Given the description of an element on the screen output the (x, y) to click on. 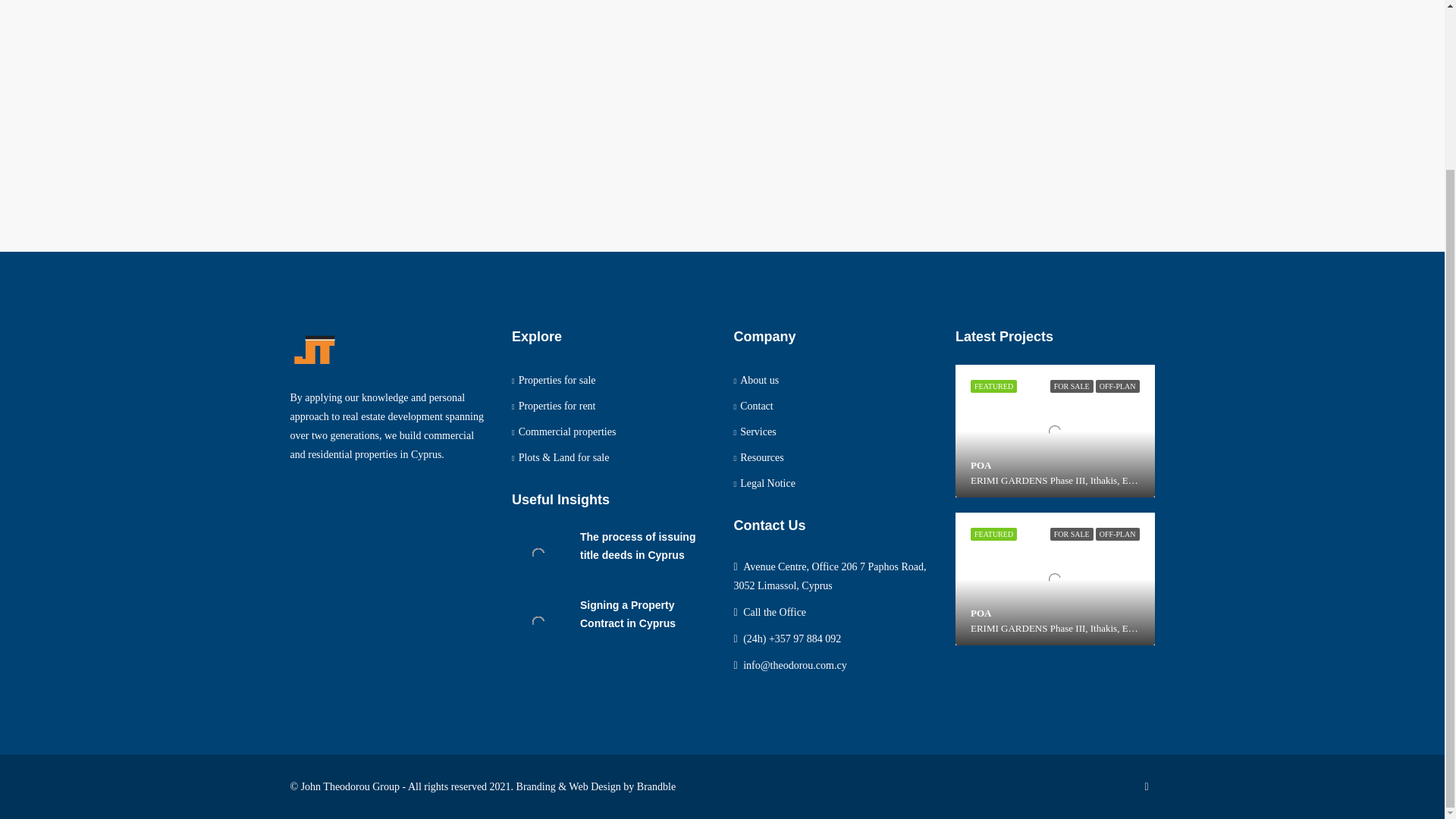
Services (754, 431)
The process of issuing title deeds in Cyprus (637, 545)
Call the Office (774, 612)
Resources (758, 457)
Commercial properties (563, 431)
Legal Notice (763, 482)
Contact (753, 405)
About us (755, 379)
Properties for rent (553, 405)
Properties for sale (553, 379)
OFF-PLAN (1118, 386)
FOR SALE (1071, 533)
Signing a Property Contract in Cyprus (627, 613)
FOR SALE (1071, 386)
